Given the description of an element on the screen output the (x, y) to click on. 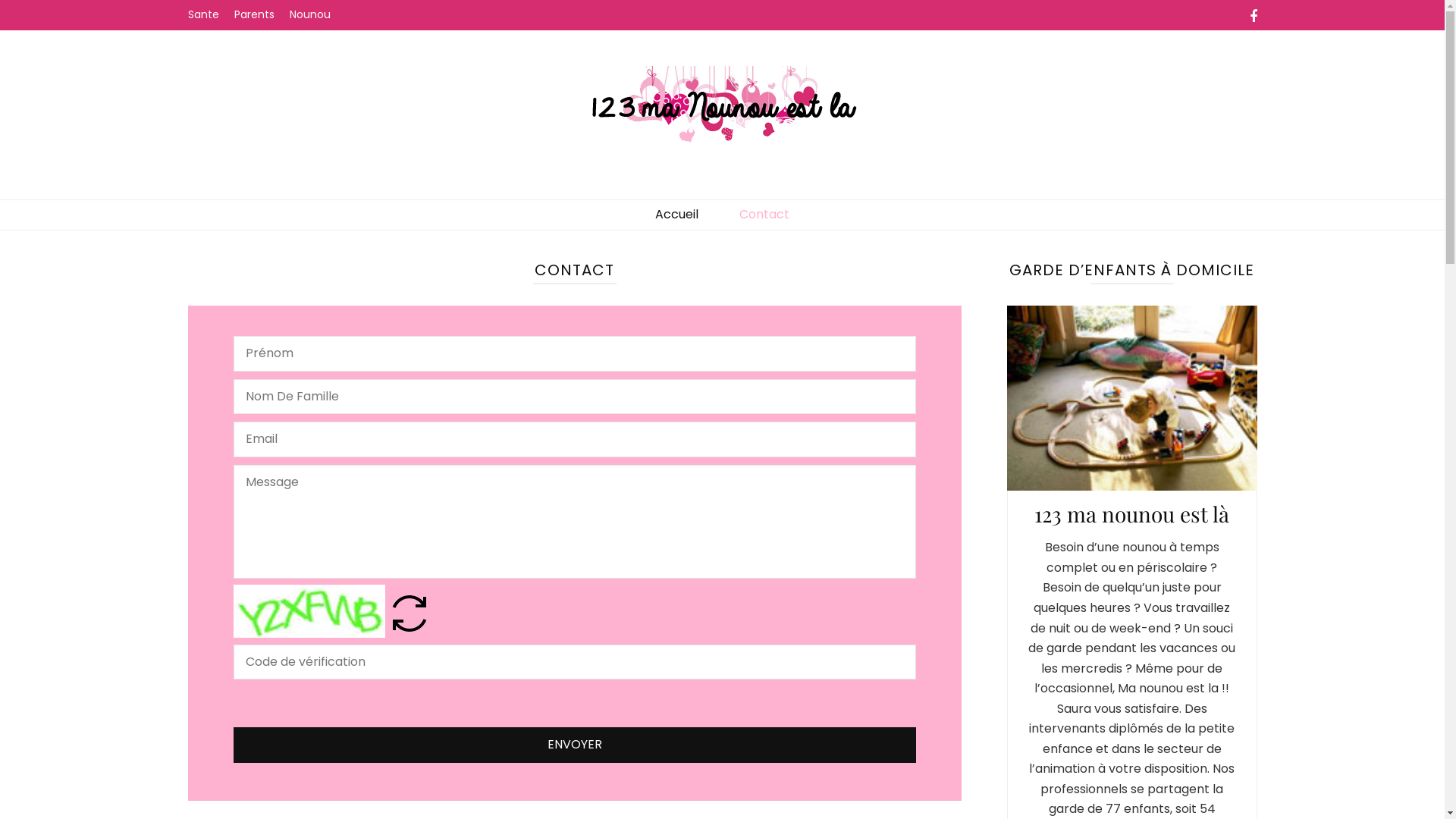
Sante Element type: text (203, 15)
Contact Element type: text (764, 214)
Accueil Element type: text (676, 214)
Envoyer Element type: text (574, 744)
Parents Element type: text (253, 15)
Nounou Element type: text (309, 15)
